Given the description of an element on the screen output the (x, y) to click on. 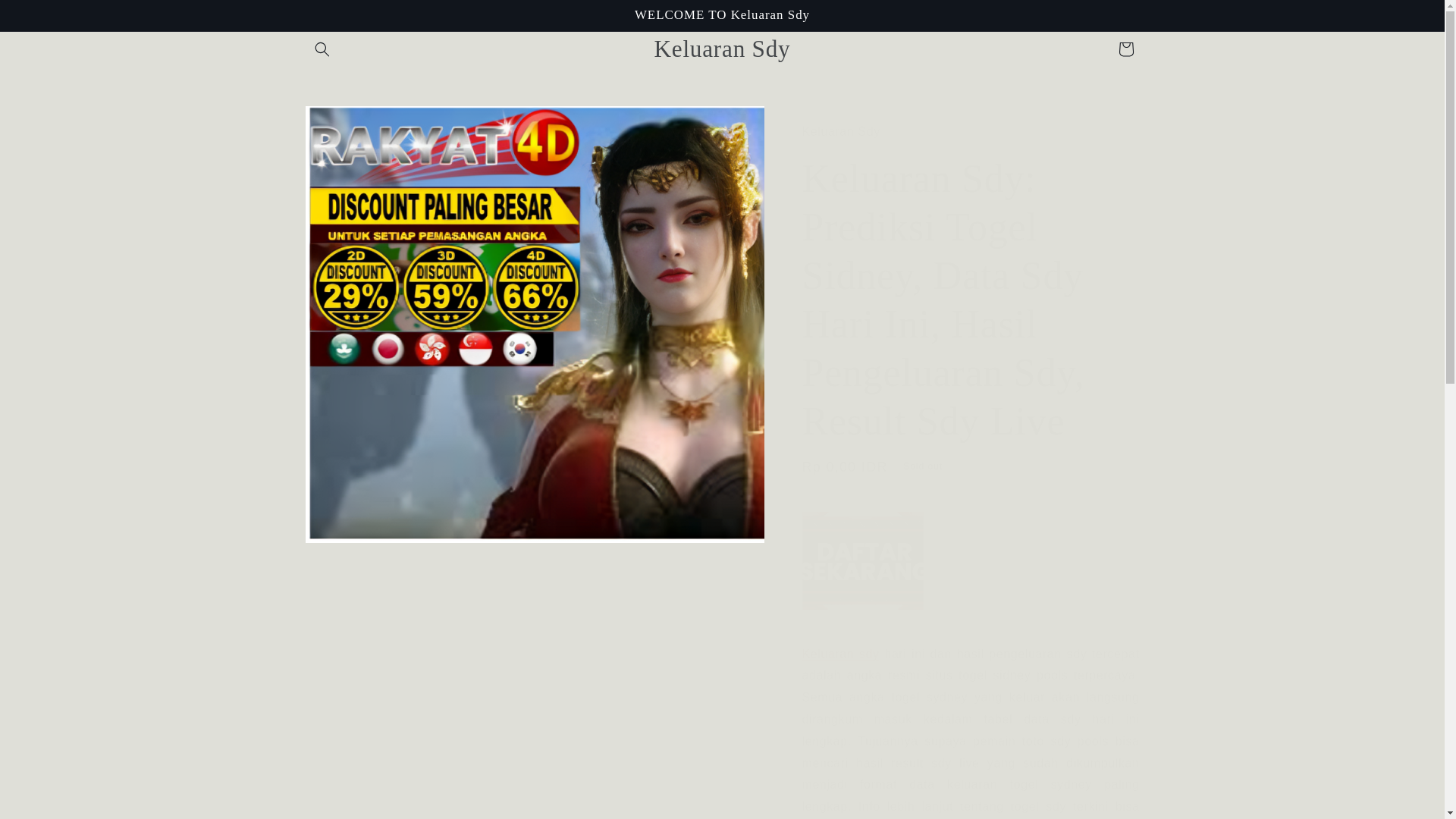
Cart (1124, 49)
Keluaran Sdy (721, 48)
Skip to content (45, 17)
Keluaran sdy (840, 653)
Skip to product information (350, 122)
